Given the description of an element on the screen output the (x, y) to click on. 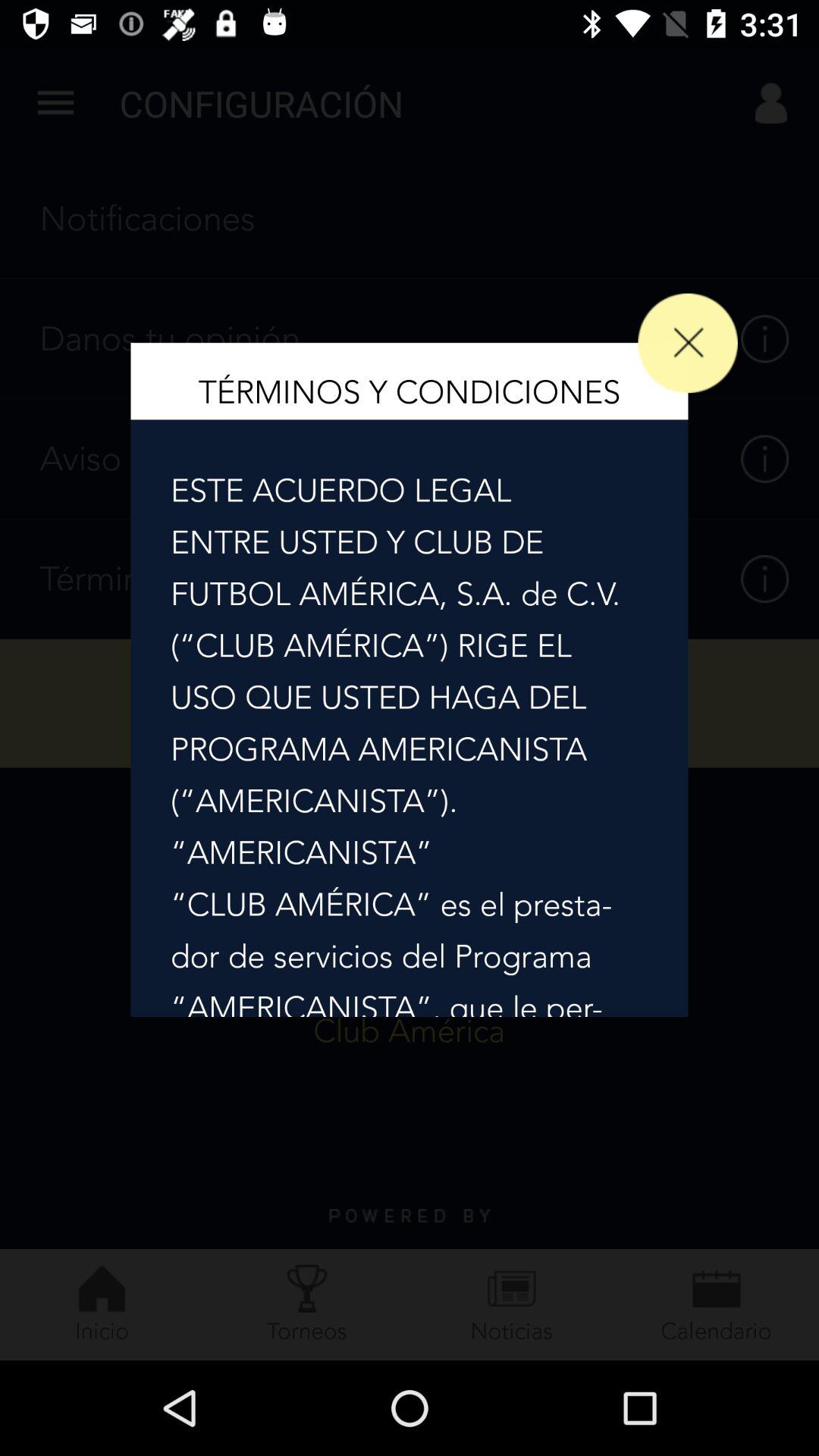
launch item above the este acuerdo legal item (687, 343)
